Given the description of an element on the screen output the (x, y) to click on. 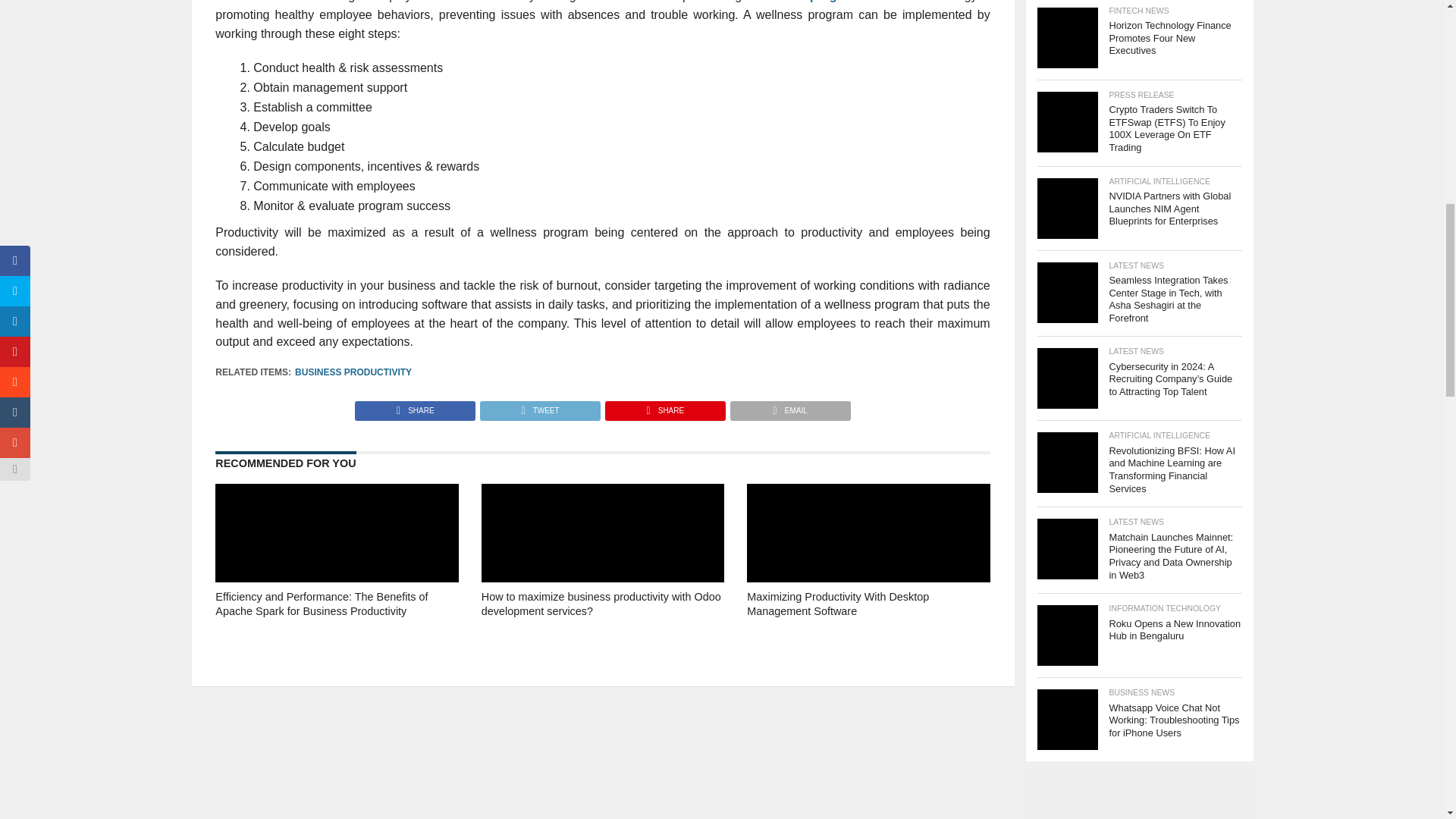
Maximizing Productivity With Desktop Management Software (868, 625)
Tweet This Post (539, 406)
Pin This Post (664, 406)
Share on Facebook (415, 406)
